Given the description of an element on the screen output the (x, y) to click on. 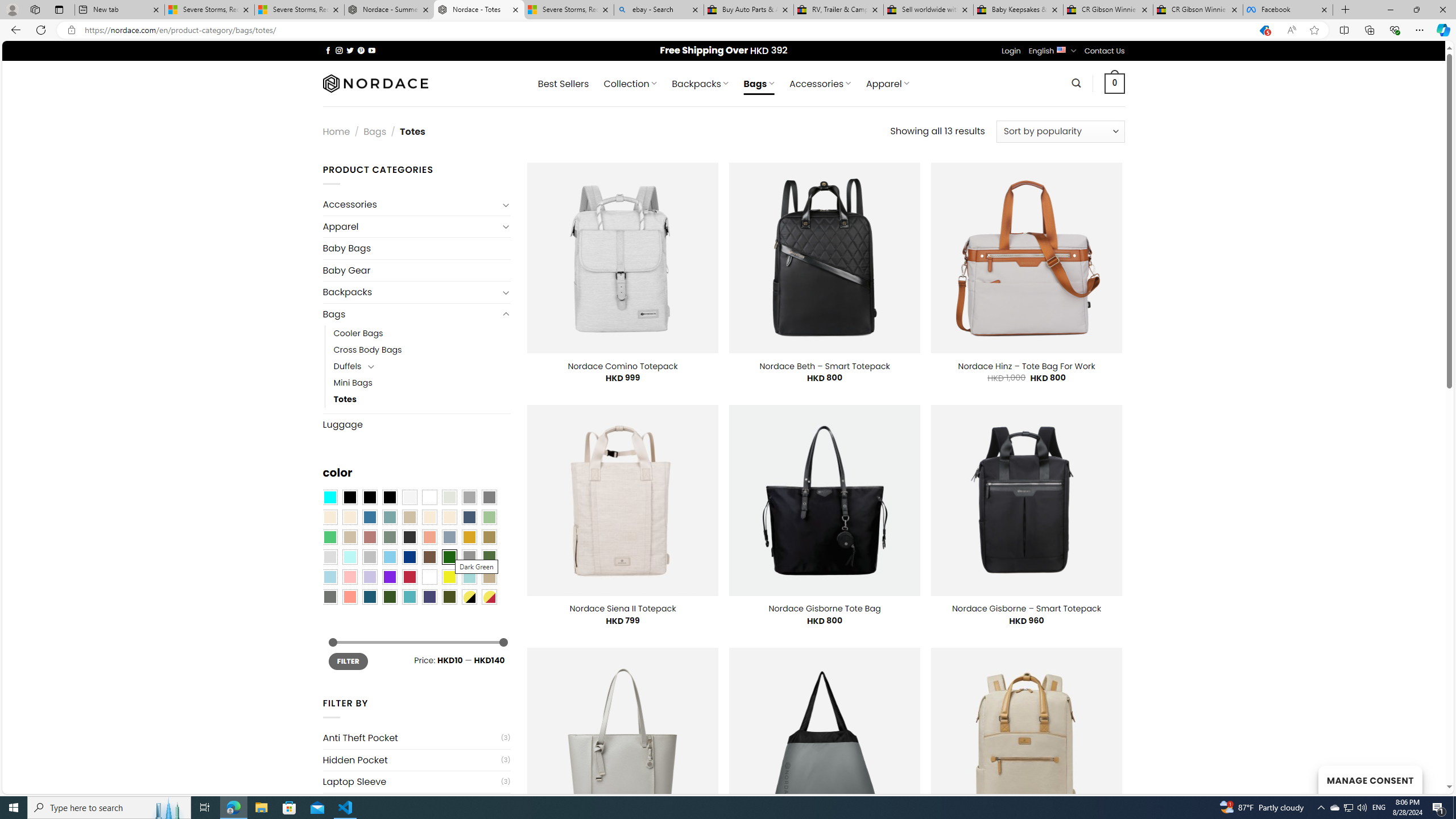
Purple (389, 577)
Light Blue (329, 577)
Hidden Pocket (410, 760)
Teal (408, 596)
  Best Sellers (563, 83)
Laptop Sleeve(3) (416, 781)
Anti Theft Pocket (410, 738)
This site has coupons! Shopping in Microsoft Edge, 5 (1263, 29)
Nordace Siena II Totepack (622, 608)
